Given the description of an element on the screen output the (x, y) to click on. 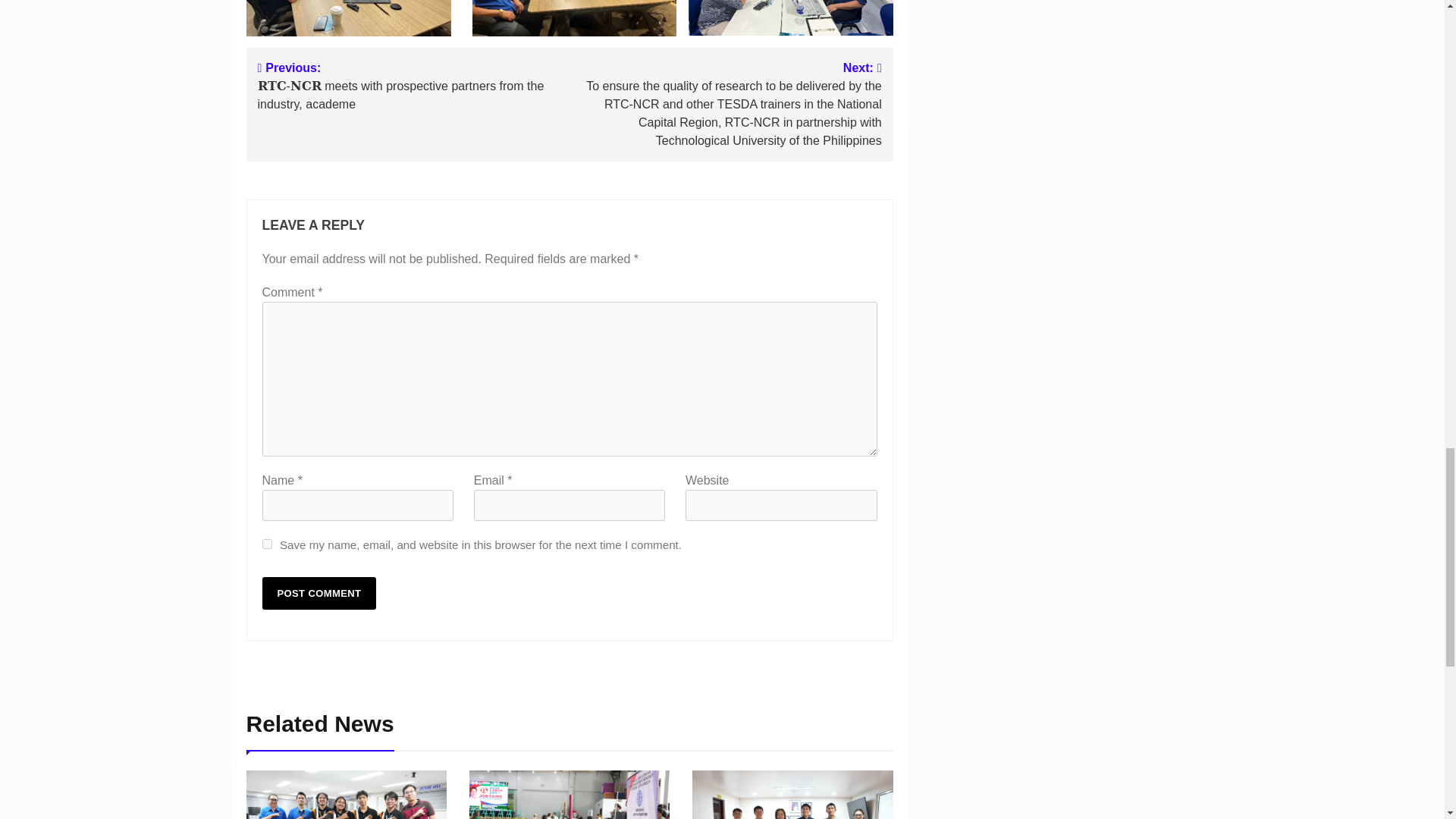
Post Comment (319, 593)
yes (267, 543)
